Given the description of an element on the screen output the (x, y) to click on. 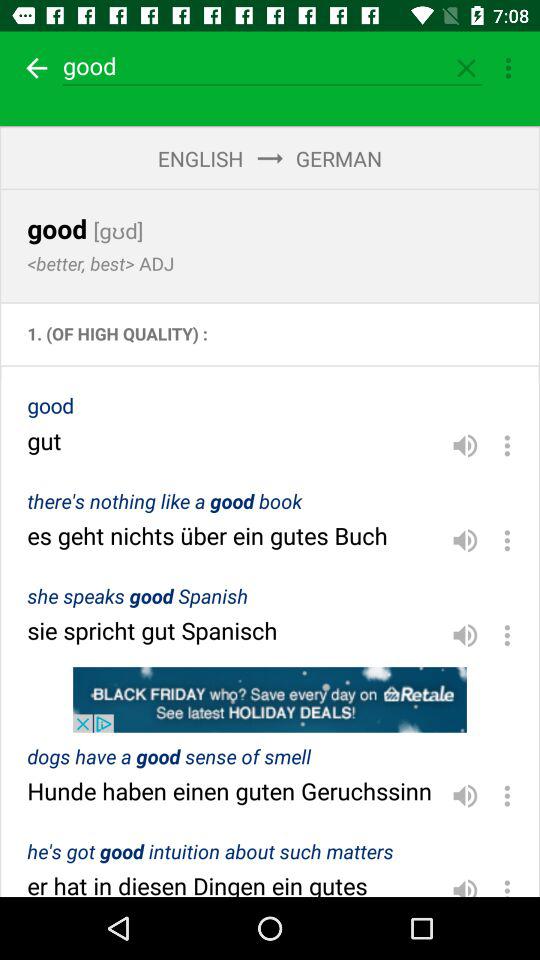
advertisement about retale (269, 699)
